Given the description of an element on the screen output the (x, y) to click on. 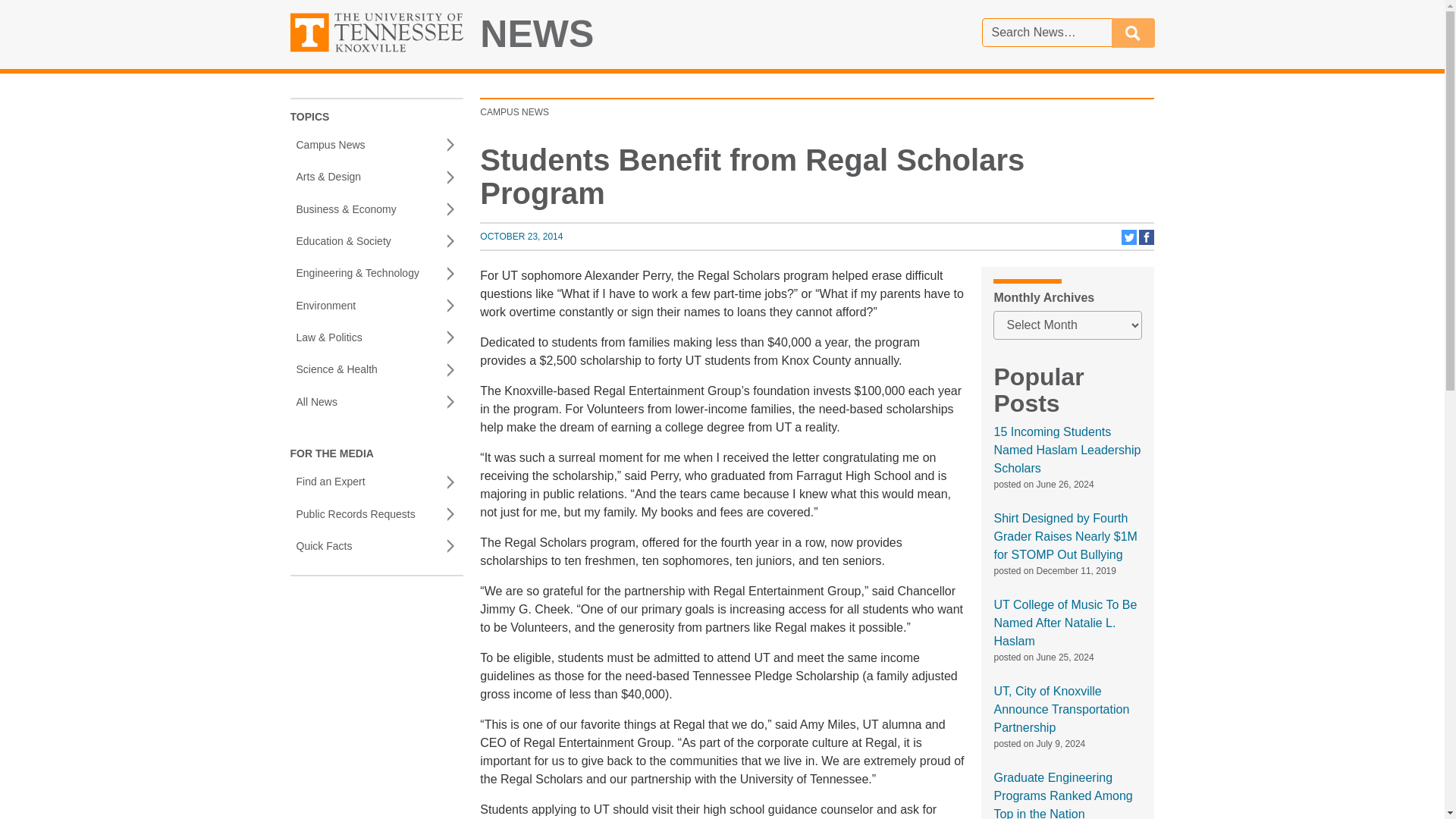
Graduate Engineering Programs Ranked Among Top in the Nation (1062, 795)
View all posts in Campus News (514, 112)
UT College of Music To Be Named After Natalie L. Haslam (521, 235)
Search for: (1064, 622)
15 Incoming Students Named Haslam Leadership Scholars (1045, 32)
Public Records Requests (1066, 450)
Share on Twitter. (376, 513)
CAMPUS NEWS (1129, 241)
UT, City of Knoxville Announce Transportation Partnership (514, 112)
Share on Facebook. (1060, 708)
NEWS (1146, 241)
Quick Facts (537, 34)
All News (376, 545)
Environment (376, 401)
